Given the description of an element on the screen output the (x, y) to click on. 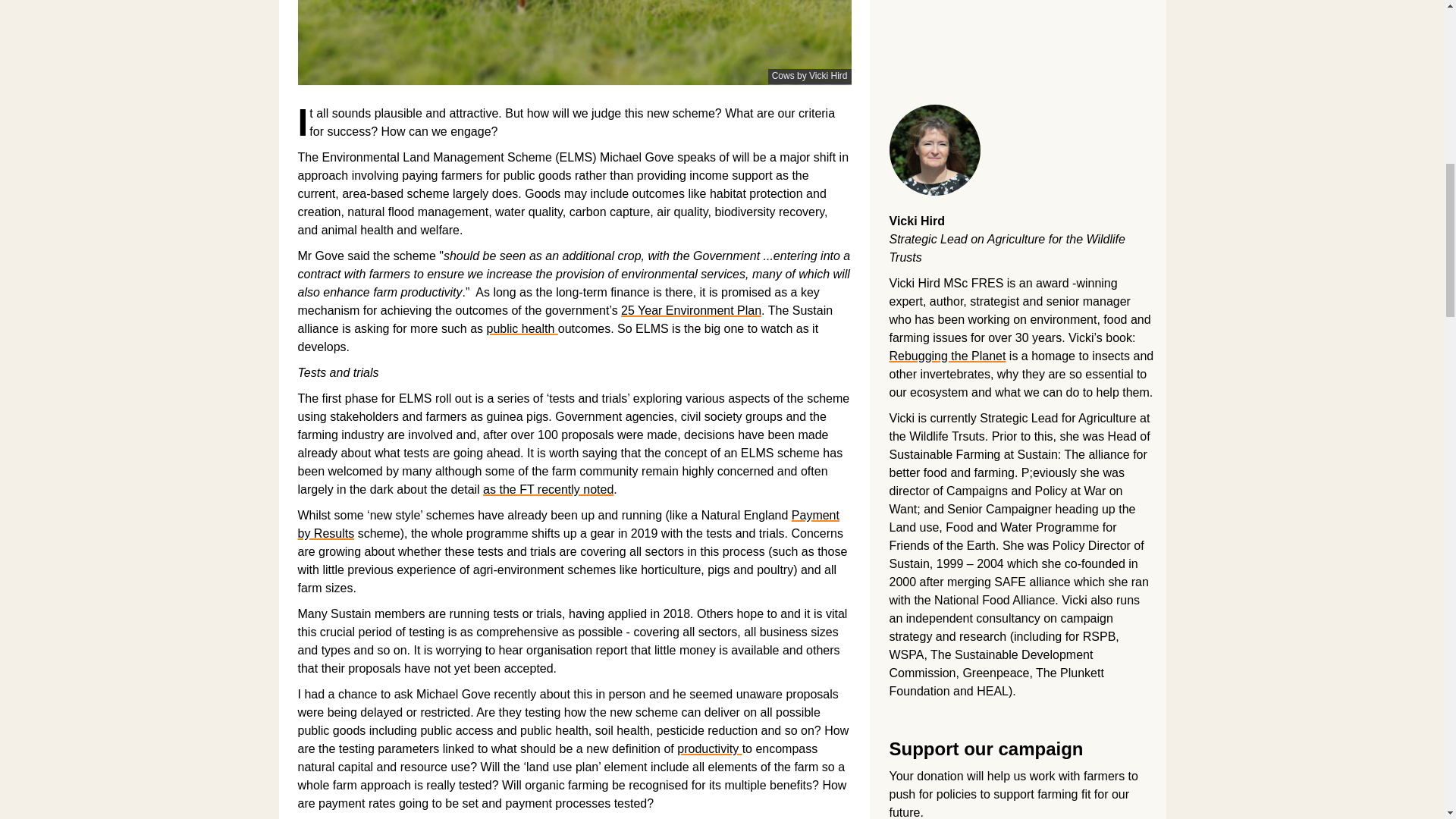
productivity (709, 748)
Payment by Results (567, 523)
public health (521, 328)
as the FT recently noted (547, 489)
25 Year Environment Plan (691, 309)
